Given the description of an element on the screen output the (x, y) to click on. 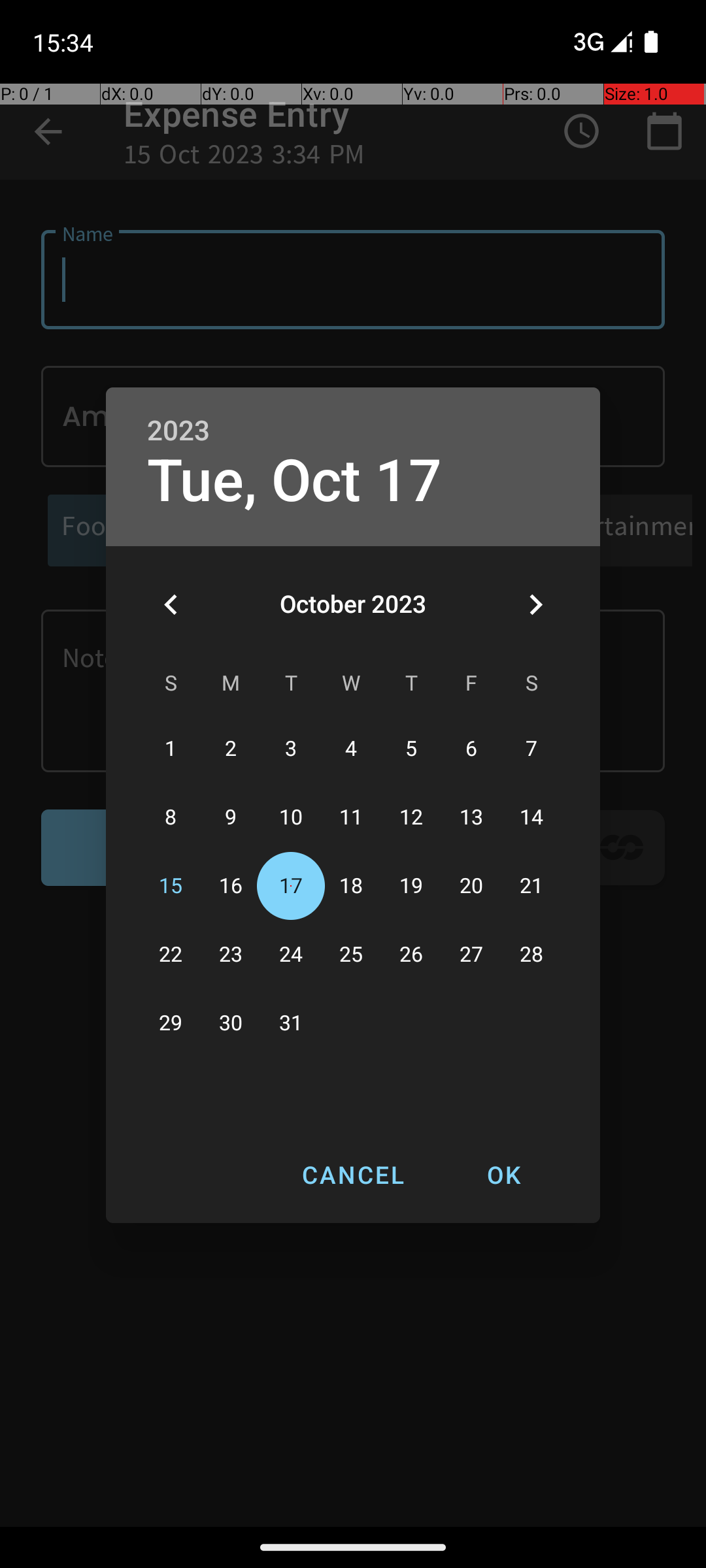
Tue, Oct 17 Element type: android.widget.TextView (294, 480)
